Given the description of an element on the screen output the (x, y) to click on. 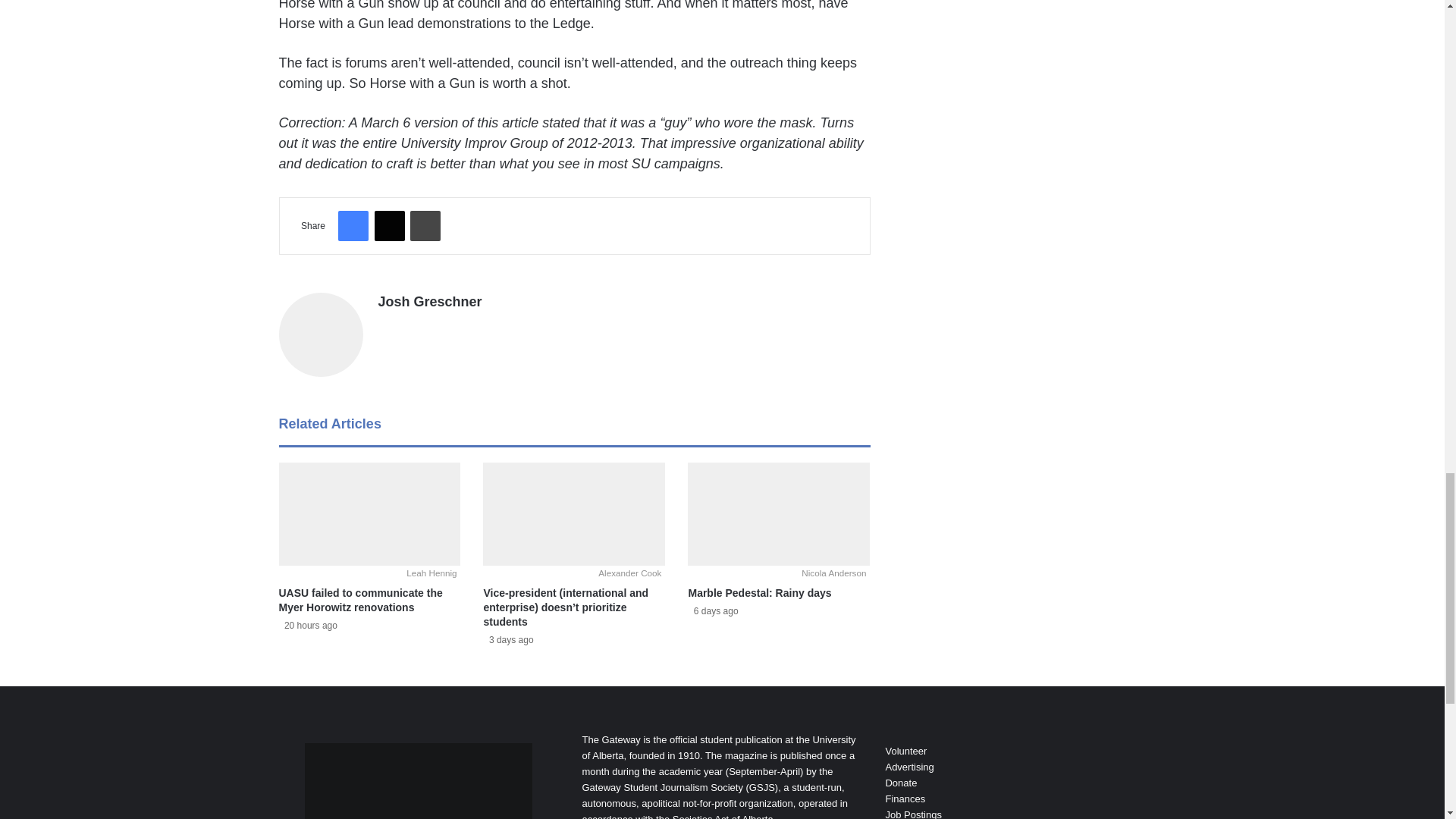
X (389, 225)
Print (425, 225)
Facebook (352, 225)
